Given the description of an element on the screen output the (x, y) to click on. 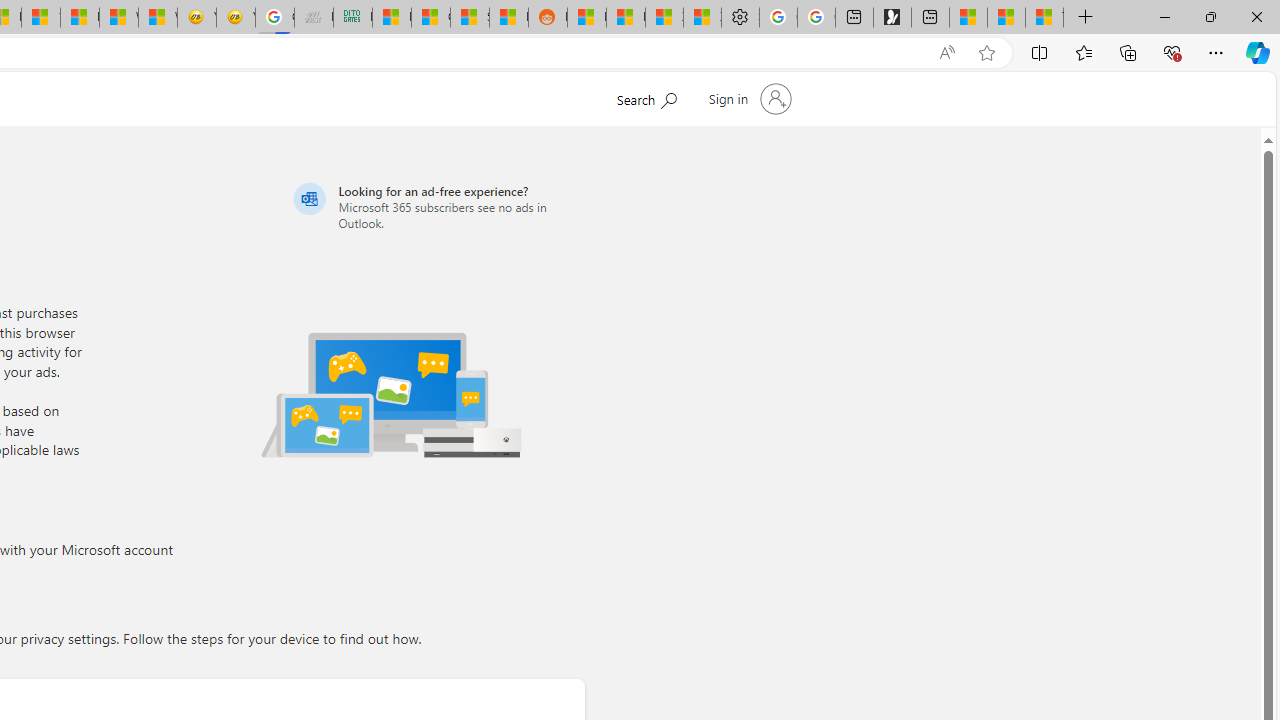
Sign in to your account (748, 98)
Search Microsoft.com (646, 97)
14 Common Myths Debunked By Scientific Facts (40, 17)
Fitness - MSN (79, 17)
MSN (509, 17)
Minimize (1164, 16)
Settings and more (Alt+F) (1215, 52)
Add this page to favorites (Ctrl+D) (986, 53)
These 3 Stocks Pay You More Than 5% to Own Them (1044, 17)
Illustration of multiple devices (391, 394)
